Given the description of an element on the screen output the (x, y) to click on. 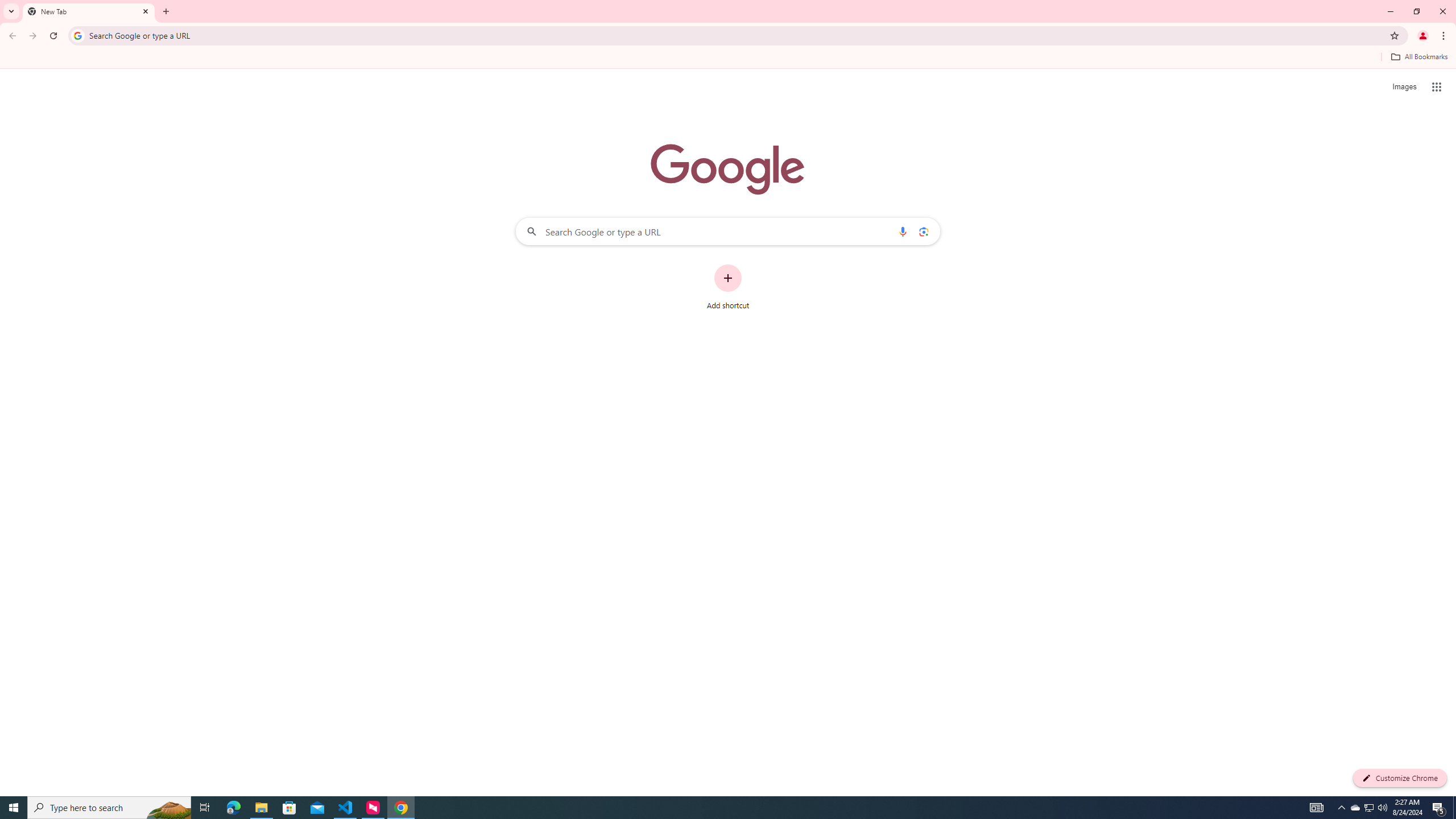
New Tab (88, 11)
